Given the description of an element on the screen output the (x, y) to click on. 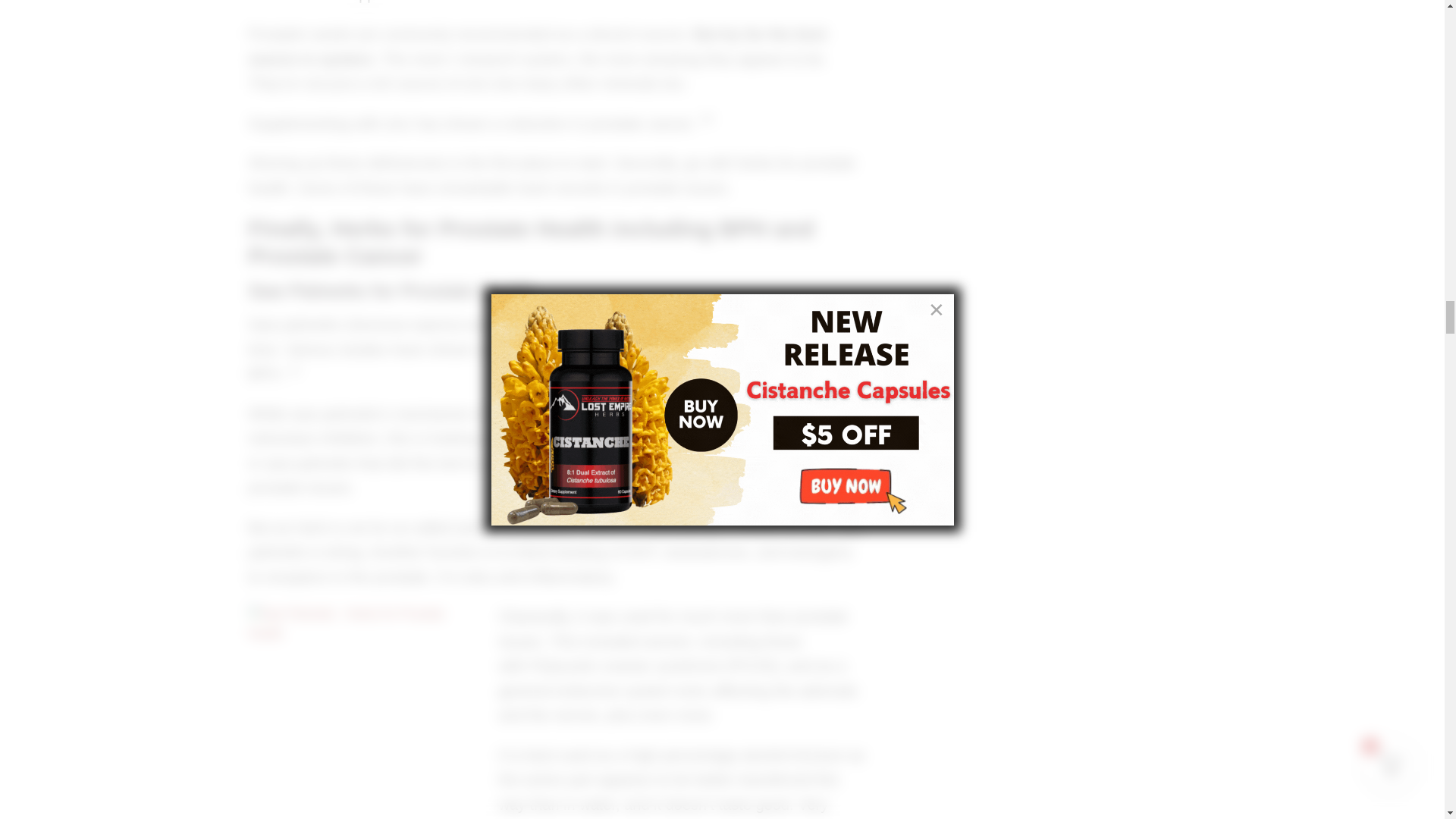
Saw Palmetto - Herbs for Prostate Health (362, 711)
